Given the description of an element on the screen output the (x, y) to click on. 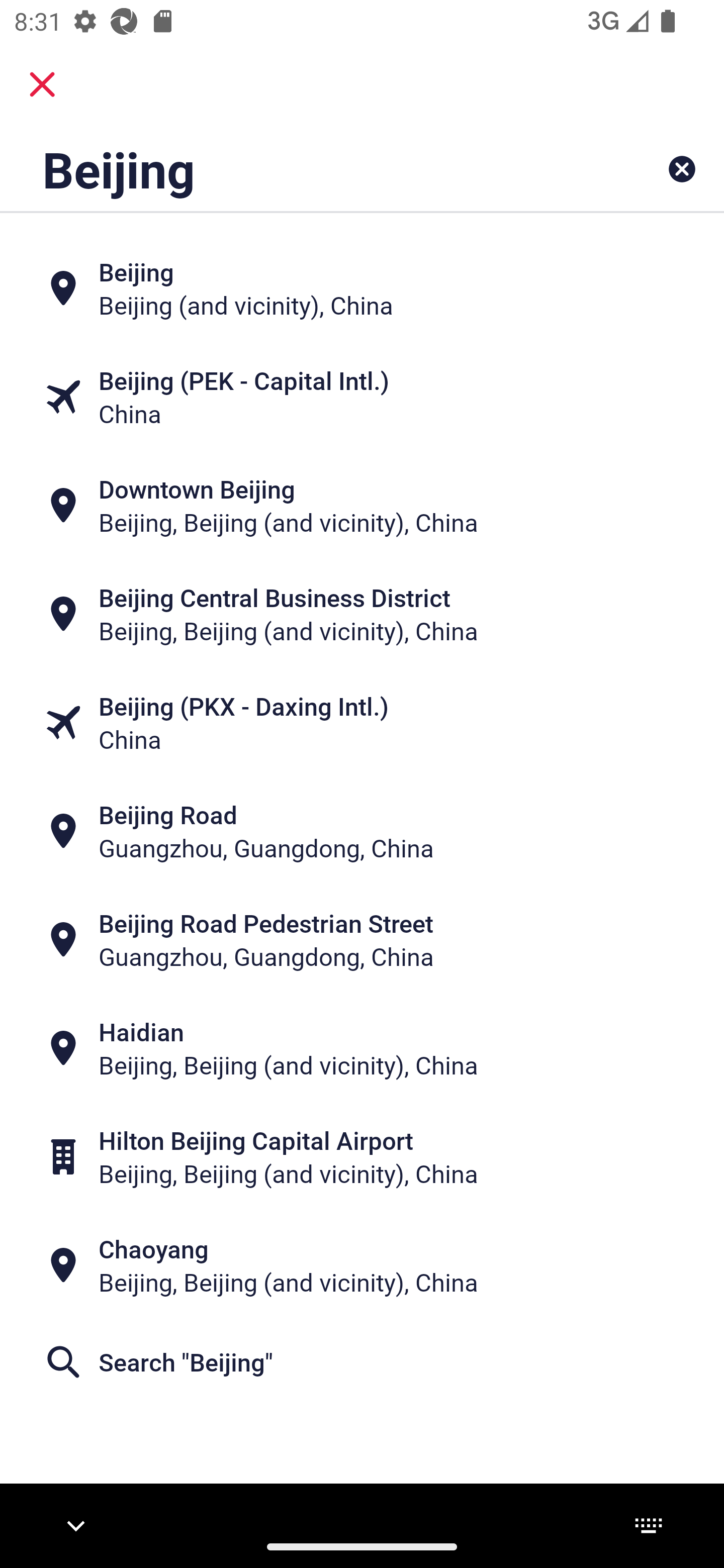
close. (42, 84)
Clear (681, 169)
Beijing (298, 169)
Beijing Beijing (and vicinity), China (362, 288)
Beijing (PEK - Capital Intl.) China (362, 397)
Beijing (PKX - Daxing Intl.) China (362, 722)
Beijing Road Guangzhou, Guangdong, China (362, 831)
Haidian Beijing, Beijing (and vicinity), China (362, 1048)
Chaoyang Beijing, Beijing (and vicinity), China (362, 1265)
Search "Beijing" (361, 1362)
